Given the description of an element on the screen output the (x, y) to click on. 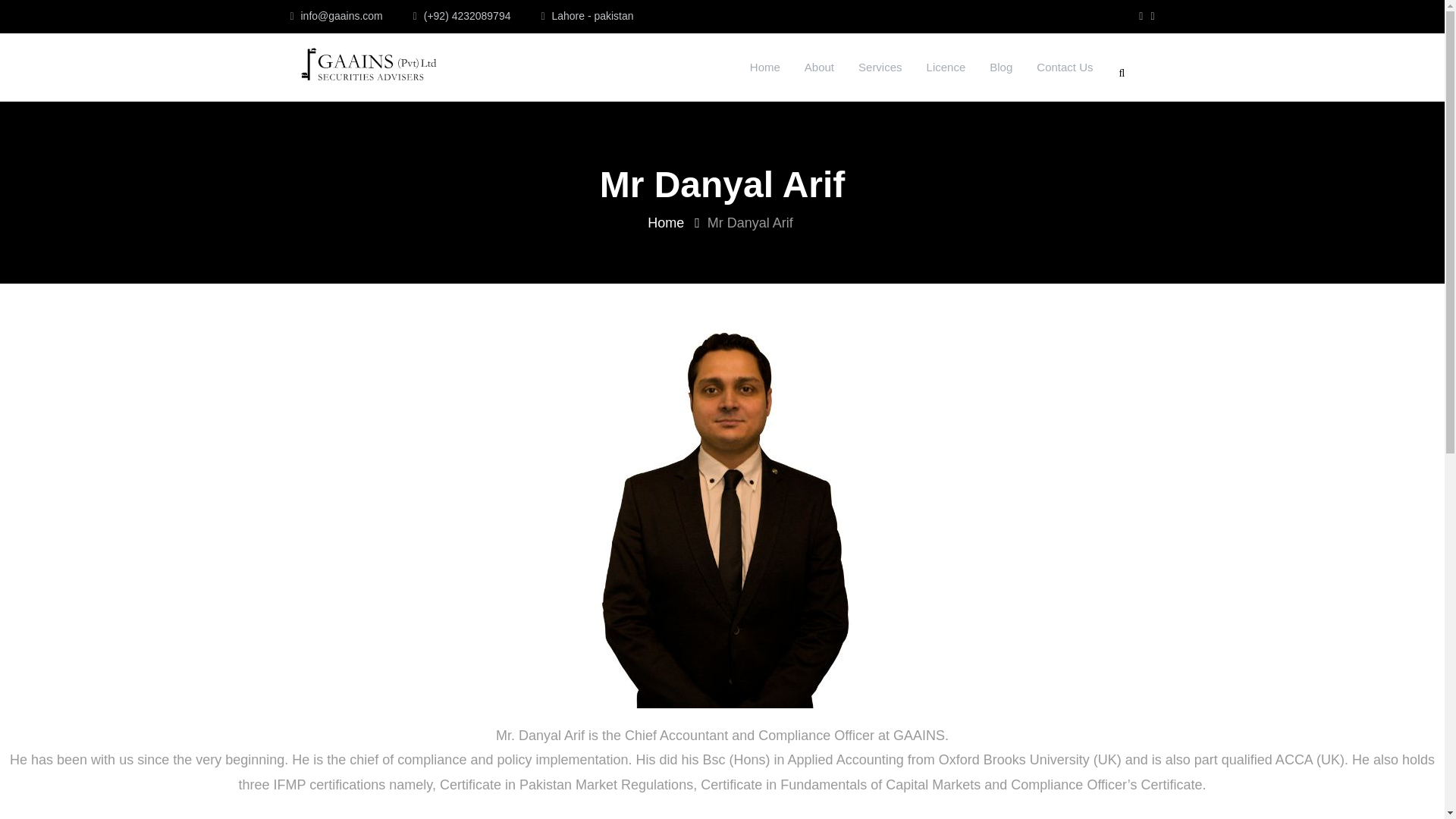
Licence (946, 67)
Home (665, 222)
Home (765, 67)
Blog (1000, 67)
About (818, 67)
Services (879, 67)
Contact Us (1065, 67)
